Given the description of an element on the screen output the (x, y) to click on. 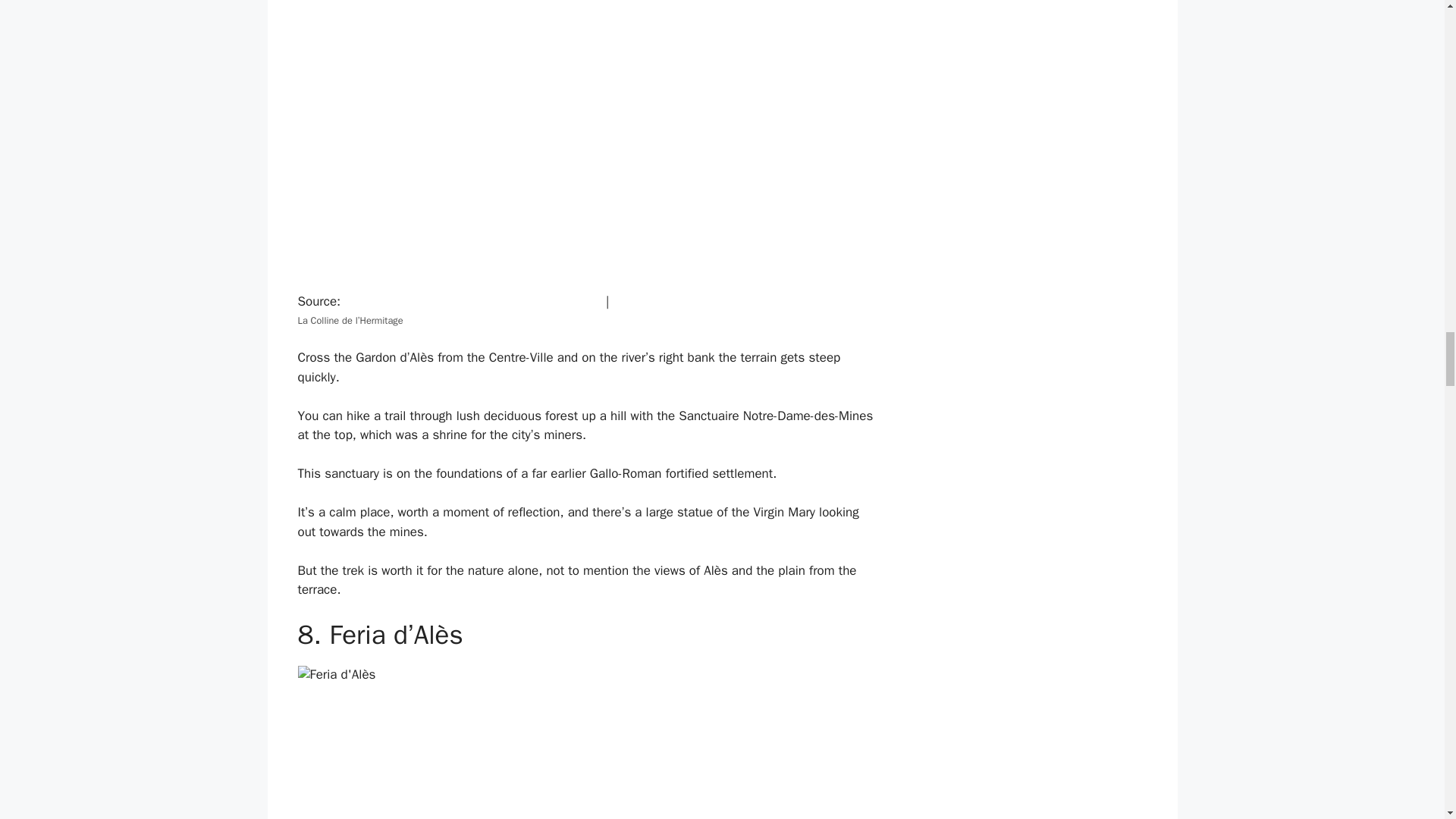
CC BY-SA 2.0 (651, 301)
